Given the description of an element on the screen output the (x, y) to click on. 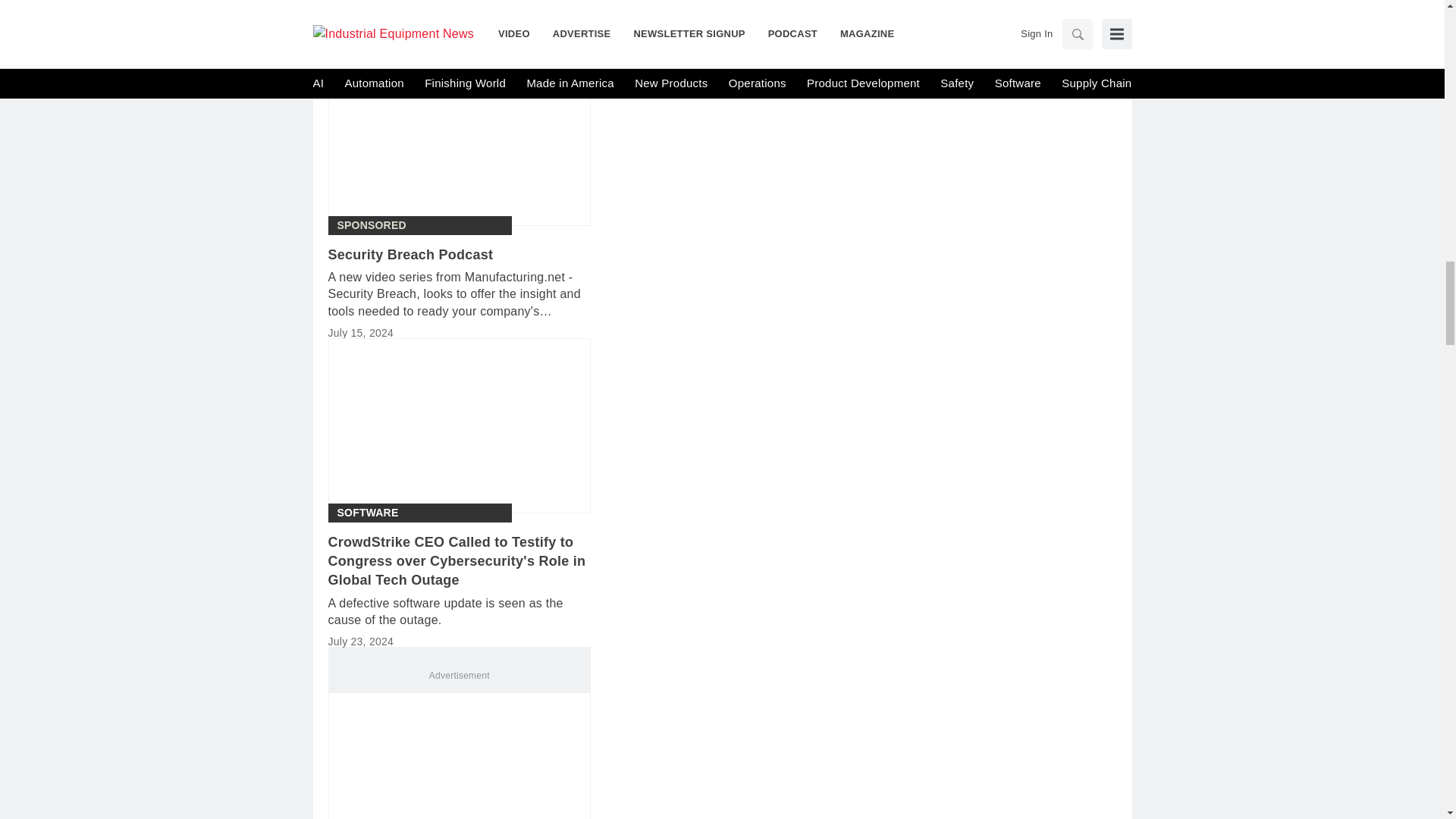
Software (366, 512)
Sponsored (371, 225)
